Given the description of an element on the screen output the (x, y) to click on. 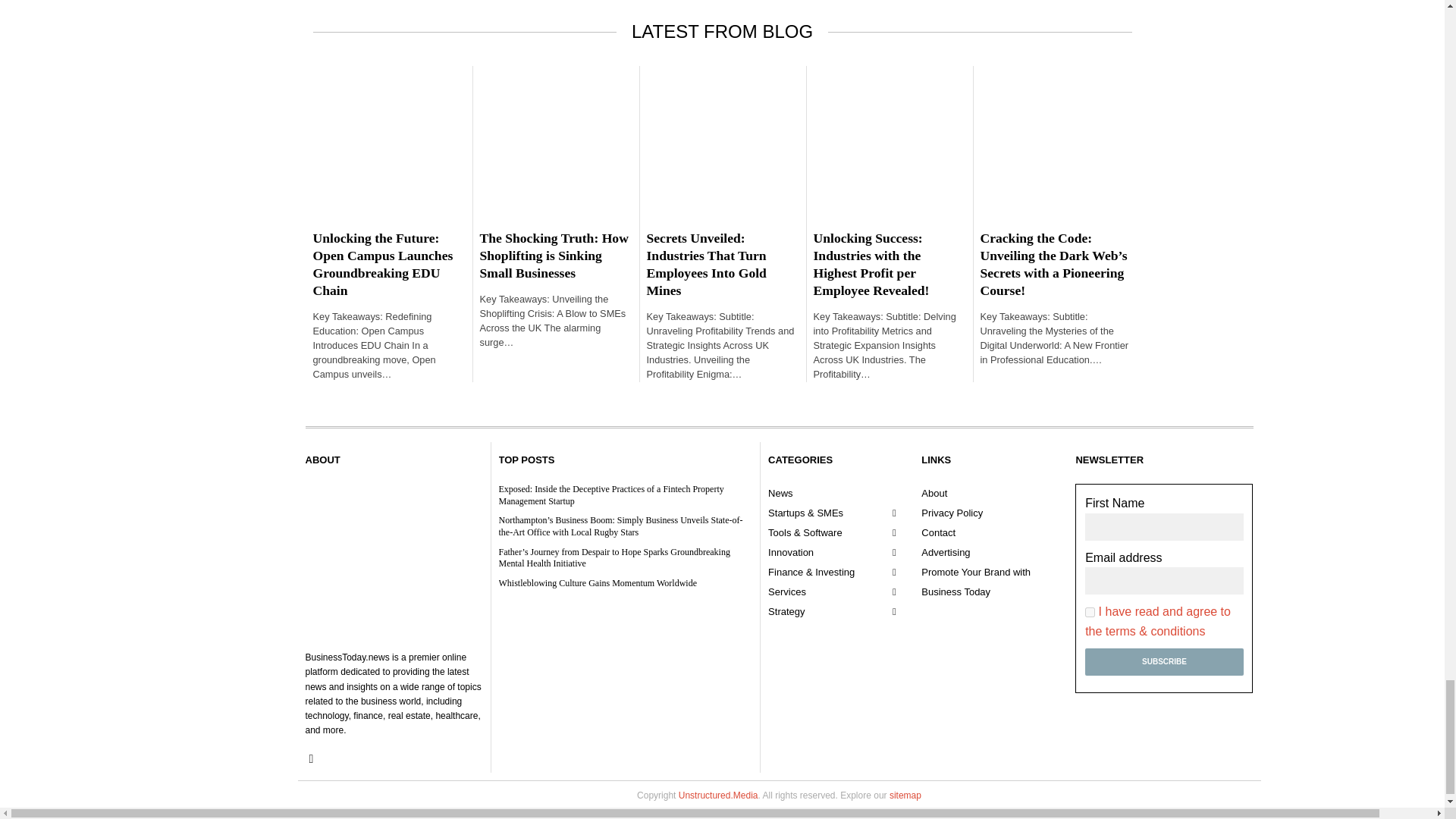
Subscribe (1163, 661)
1 (1089, 612)
